Given the description of an element on the screen output the (x, y) to click on. 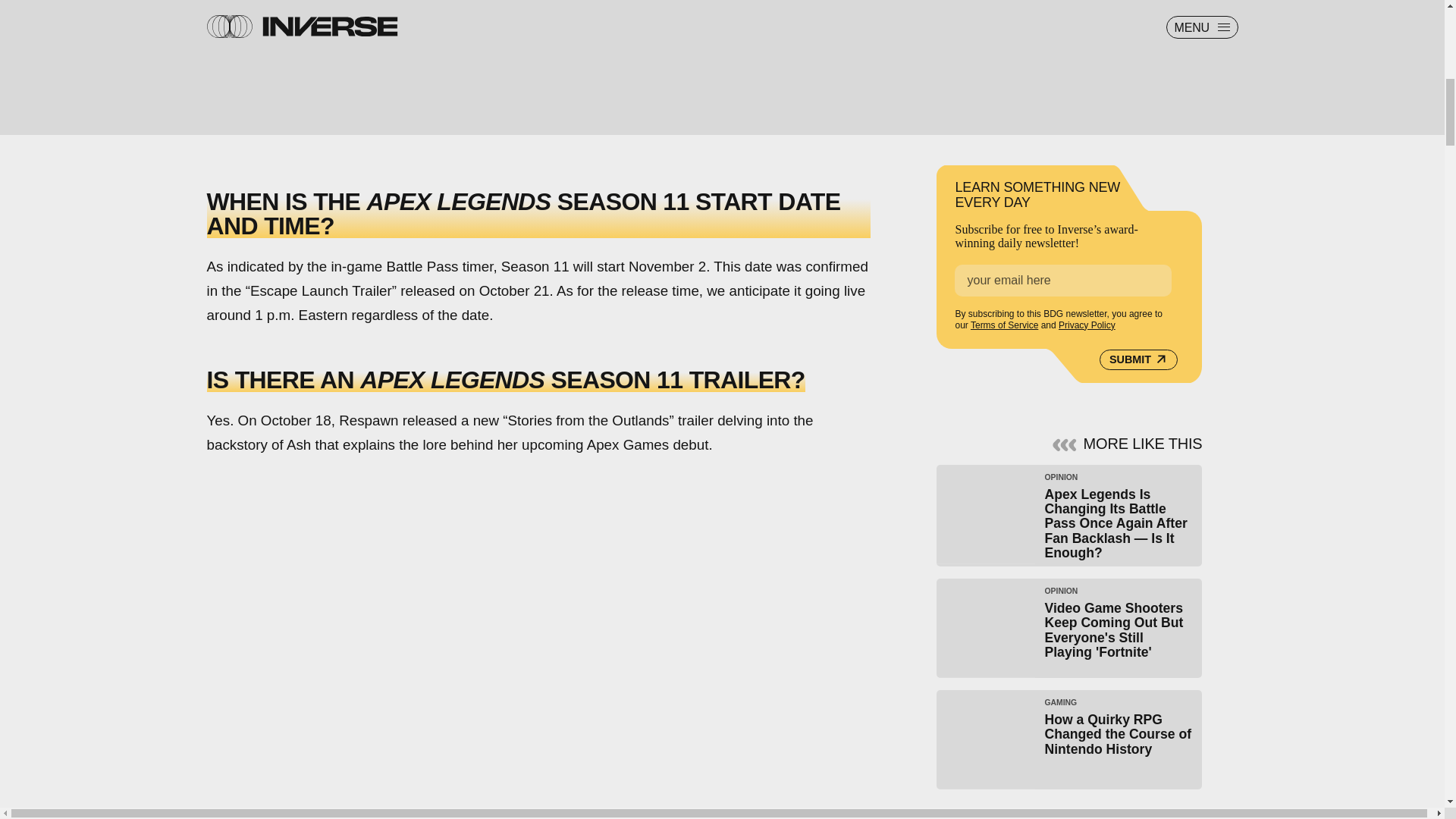
Terms of Service (1004, 325)
Privacy Policy (1086, 325)
SUBMIT (1138, 360)
